Given the description of an element on the screen output the (x, y) to click on. 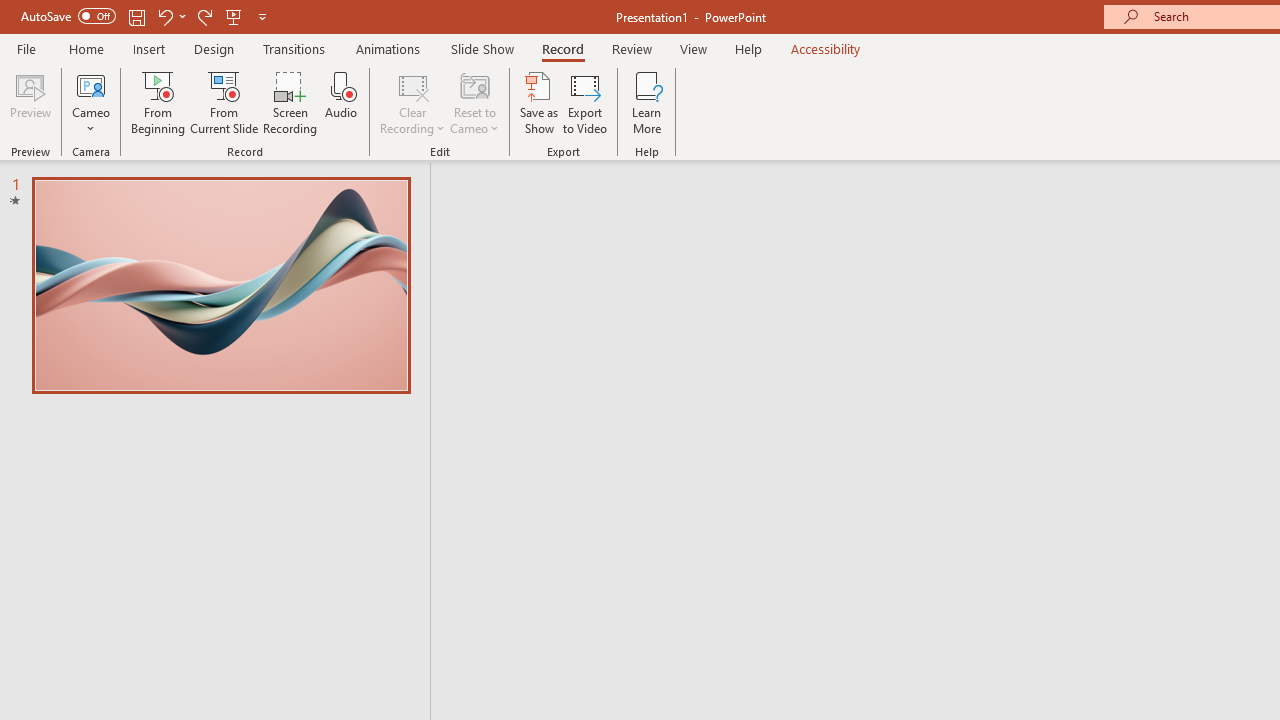
Export to Video (585, 102)
Cameo (91, 102)
Save as Show (539, 102)
Clear Recording (412, 102)
Screen Recording (290, 102)
Preview (30, 102)
